Given the description of an element on the screen output the (x, y) to click on. 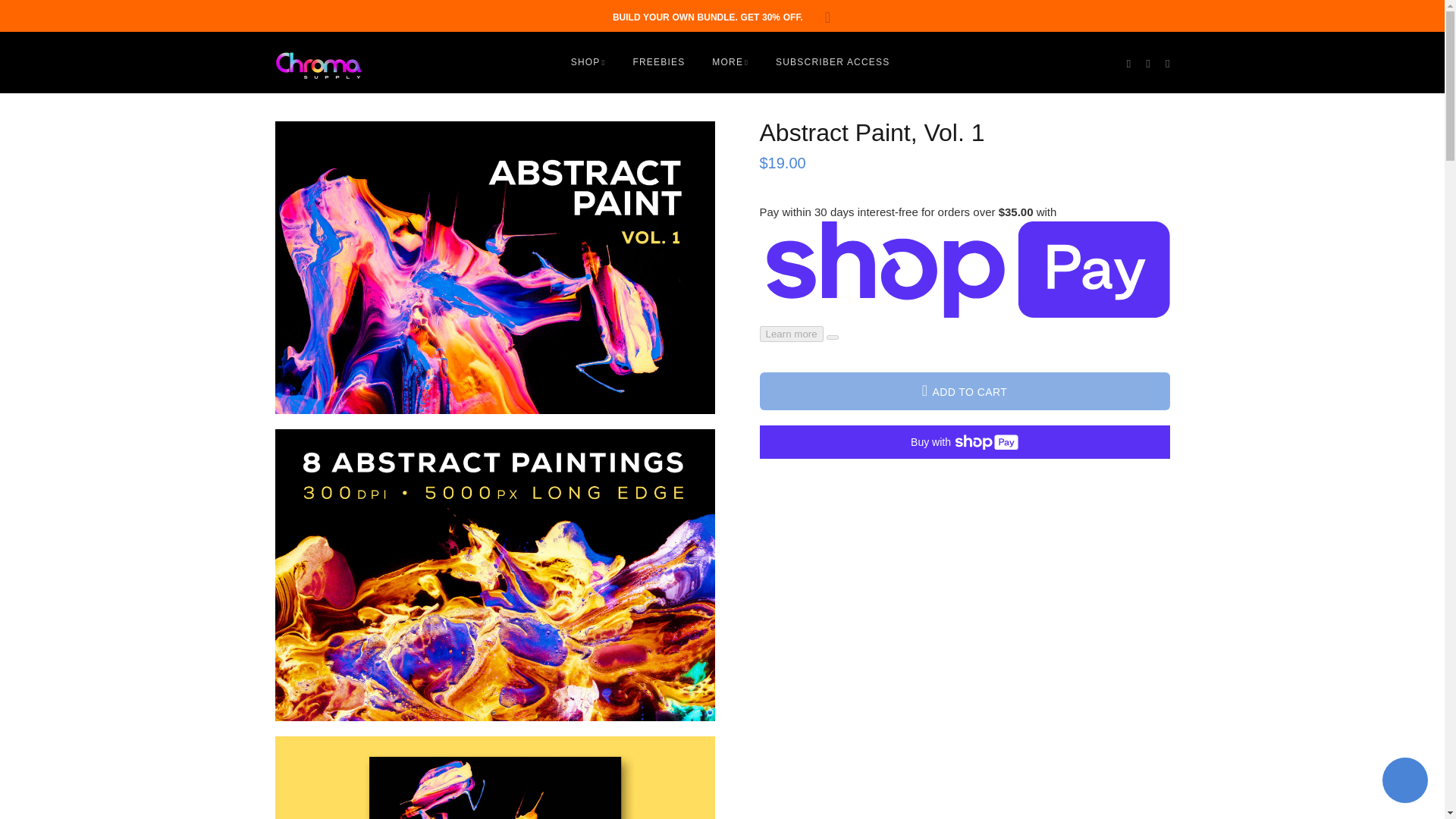
SHOP (591, 62)
FREEBIES (658, 62)
MORE (729, 62)
Shopify online store chat (1404, 781)
